Given the description of an element on the screen output the (x, y) to click on. 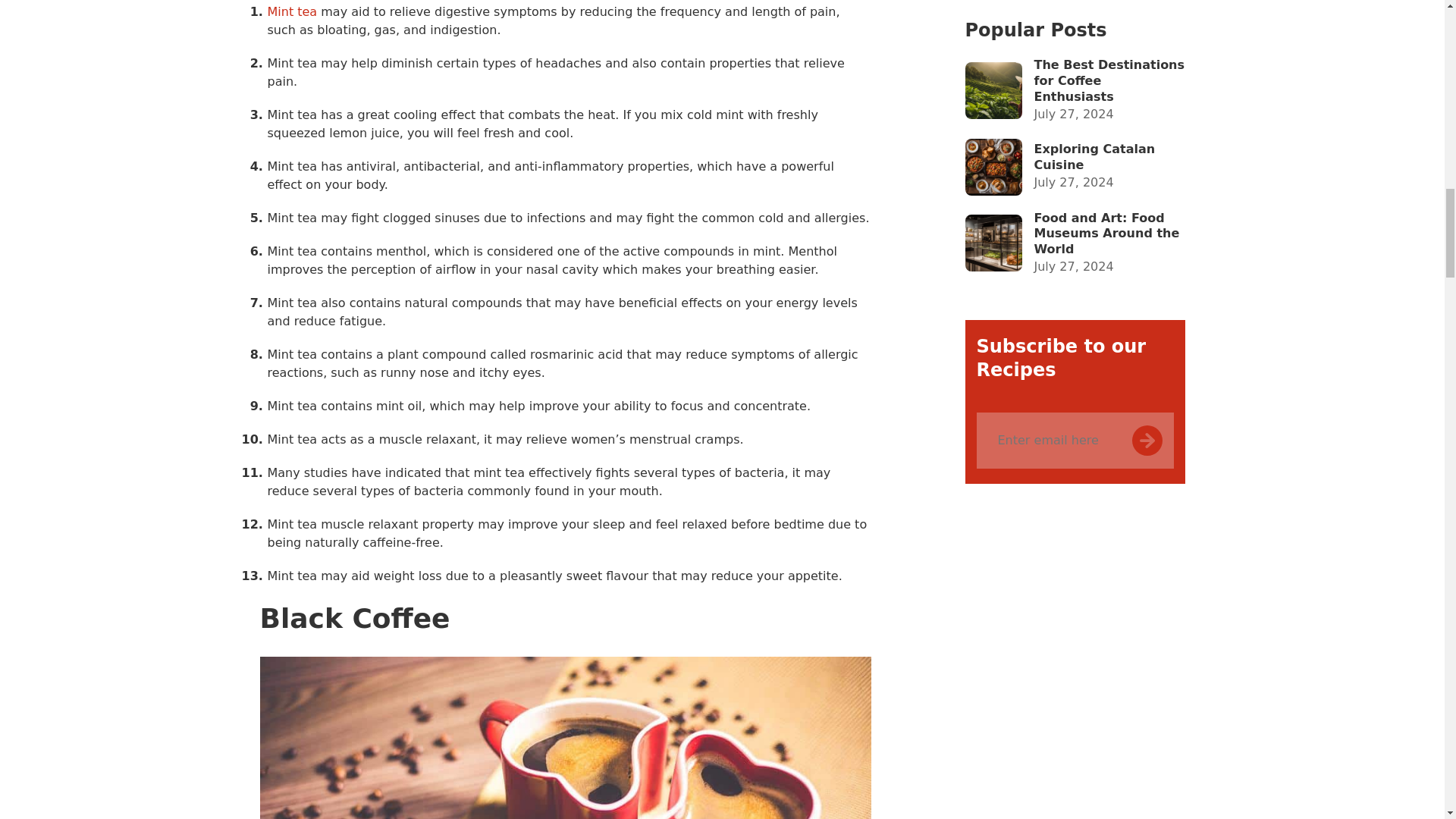
black coffee 1867753 960 720 (564, 737)
Mint tea (291, 11)
